Given the description of an element on the screen output the (x, y) to click on. 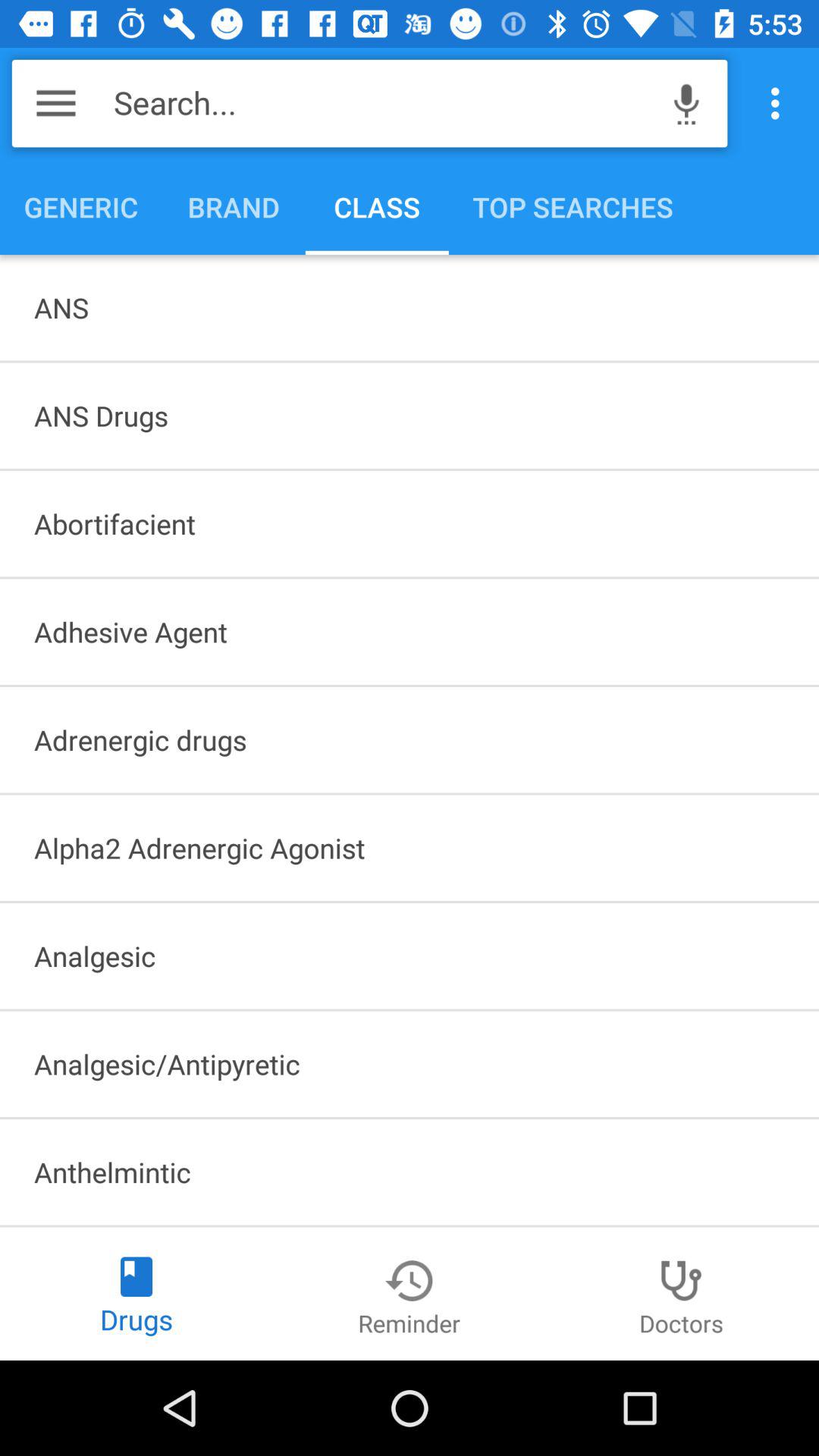
launch abortifacient icon (409, 523)
